Given the description of an element on the screen output the (x, y) to click on. 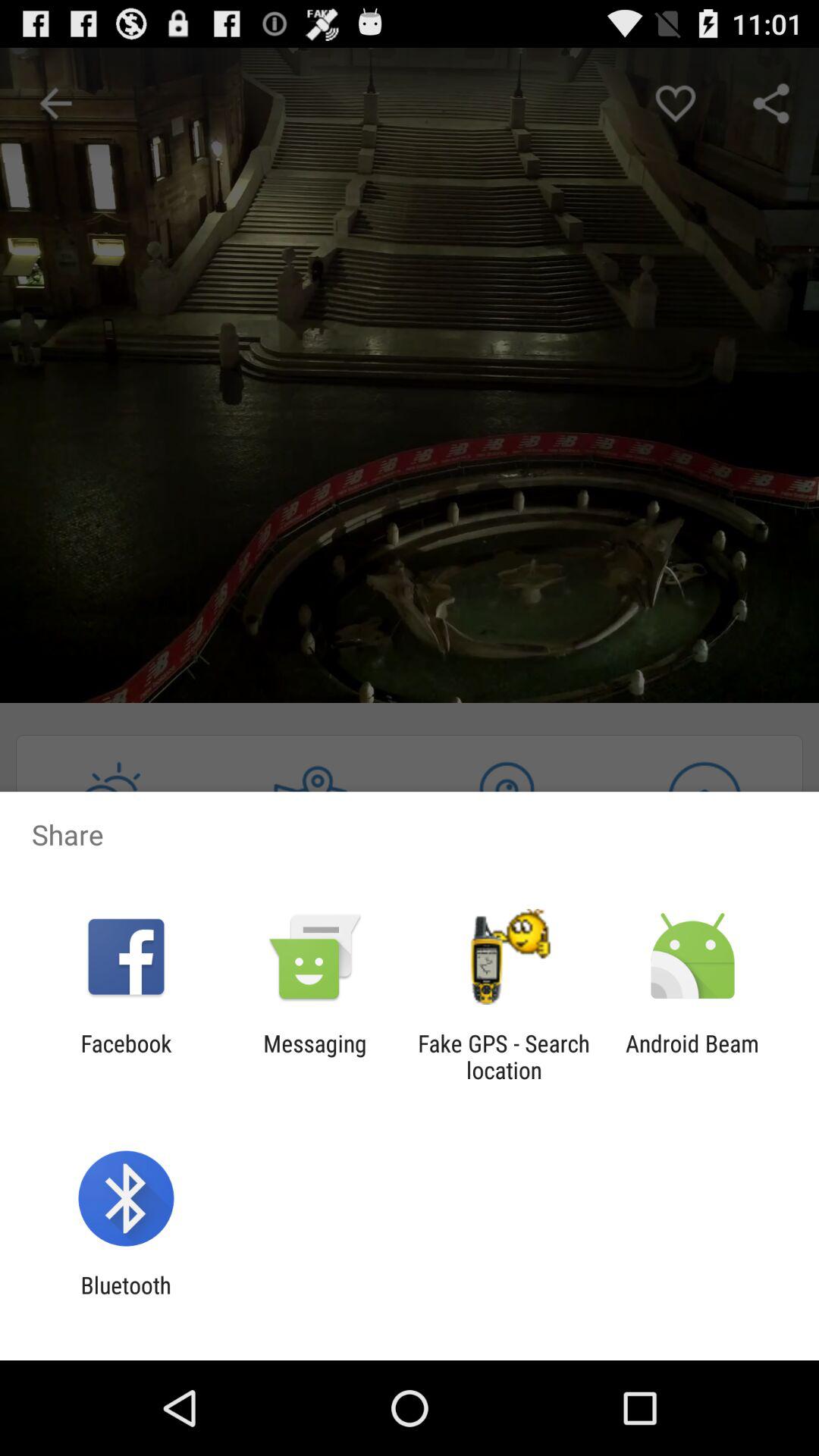
click the item next to messaging icon (125, 1056)
